Given the description of an element on the screen output the (x, y) to click on. 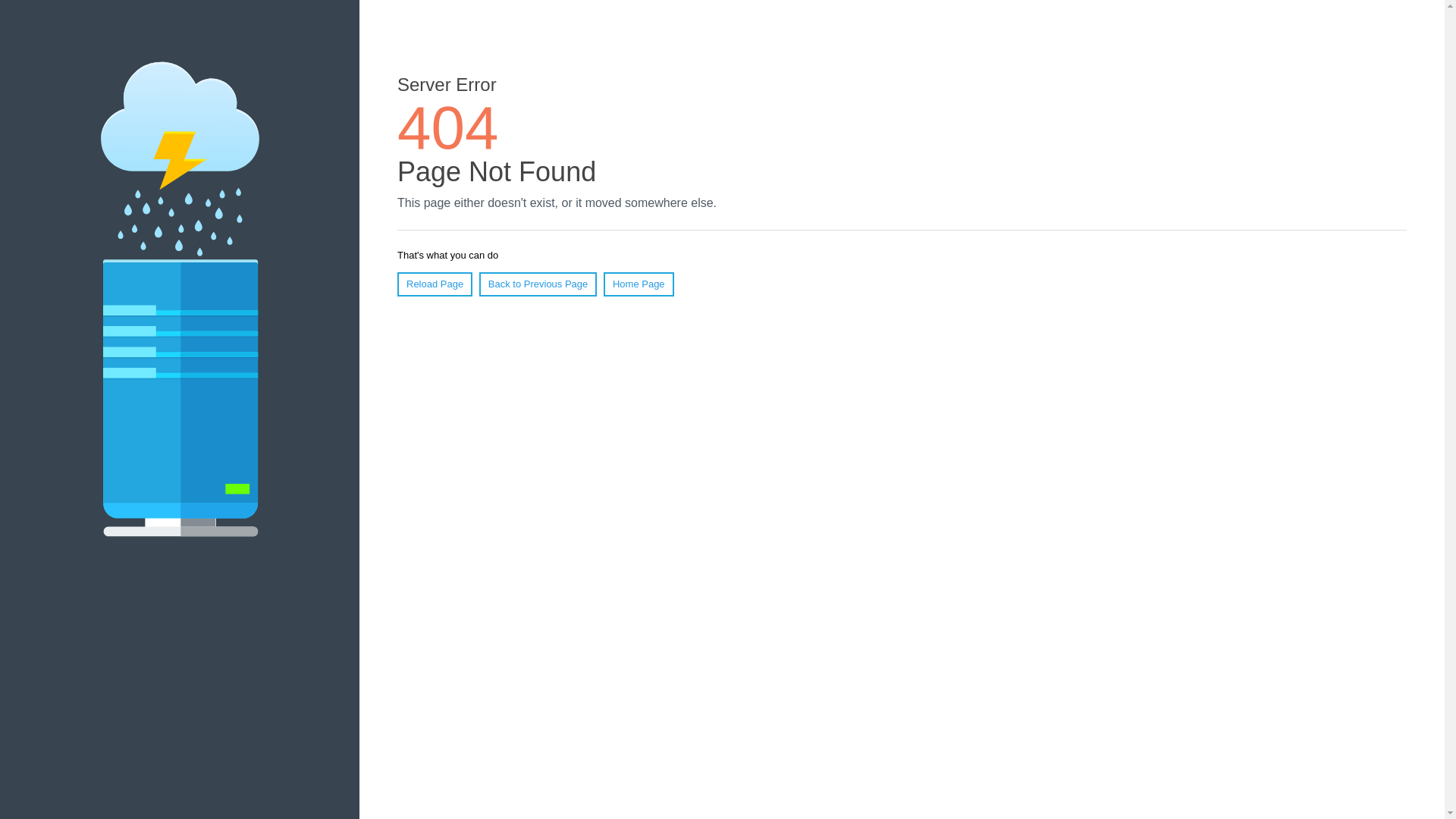
Home Page Element type: text (638, 284)
Back to Previous Page Element type: text (538, 284)
Reload Page Element type: text (434, 284)
